Given the description of an element on the screen output the (x, y) to click on. 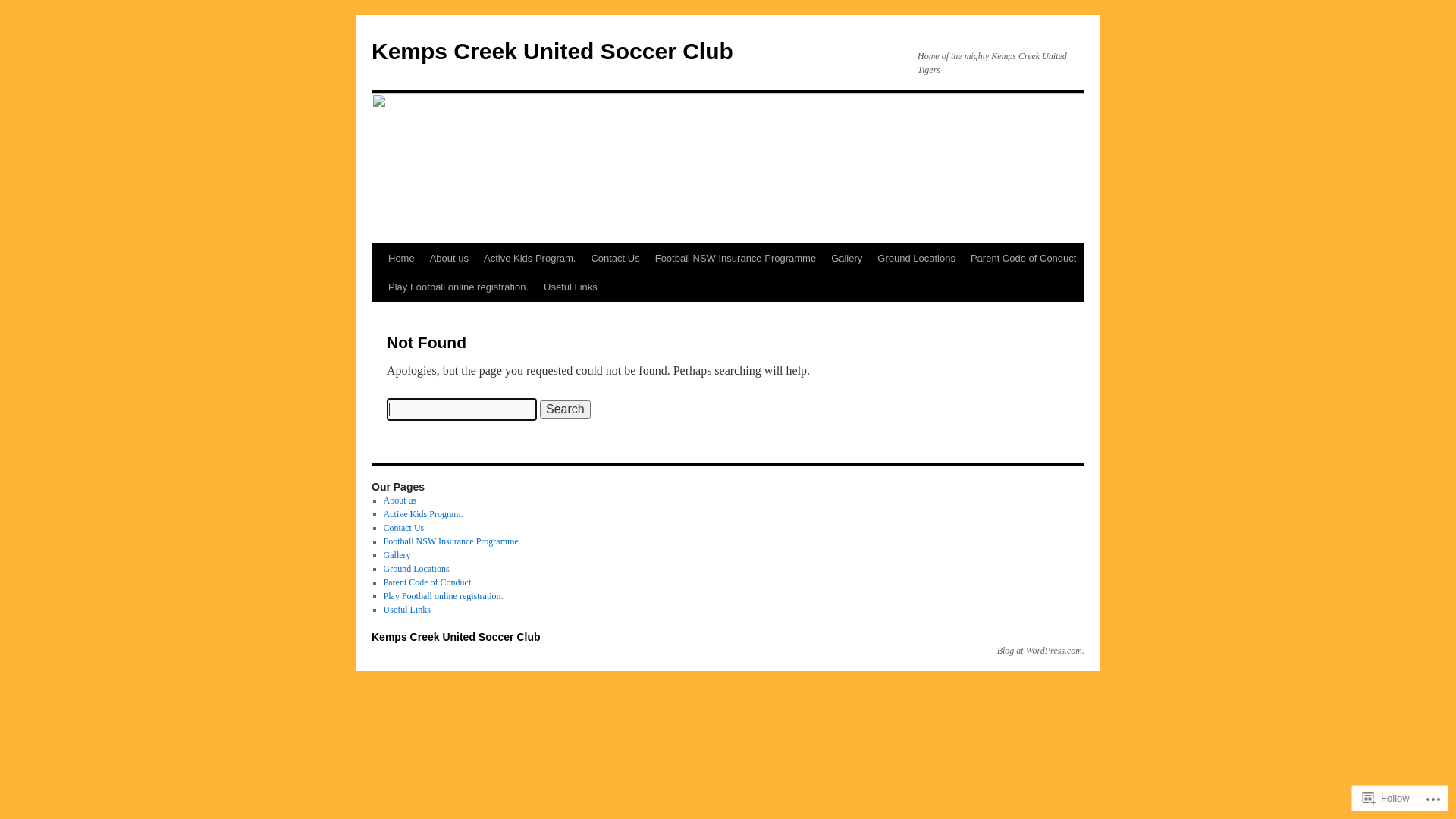
Contact Us Element type: text (403, 527)
Parent Code of Conduct Element type: text (1023, 258)
Active Kids Program. Element type: text (423, 513)
Gallery Element type: text (846, 258)
Blog at WordPress.com. Element type: text (1040, 650)
About us Element type: text (400, 500)
Follow Element type: text (1385, 797)
Football NSW Insurance Programme Element type: text (735, 258)
Parent Code of Conduct Element type: text (427, 582)
Useful Links Element type: text (570, 287)
Kemps Creek United Soccer Club Element type: text (552, 50)
Home Element type: text (401, 258)
Football NSW Insurance Programme Element type: text (450, 541)
Play Football online registration. Element type: text (443, 595)
Play Football online registration. Element type: text (458, 287)
Search Element type: text (564, 409)
Gallery Element type: text (397, 554)
Kemps Creek United Soccer Club Element type: text (455, 636)
Ground Locations Element type: text (416, 568)
About us Element type: text (449, 258)
Ground Locations Element type: text (916, 258)
Active Kids Program. Element type: text (529, 258)
Contact Us Element type: text (614, 258)
Useful Links Element type: text (406, 609)
